Given the description of an element on the screen output the (x, y) to click on. 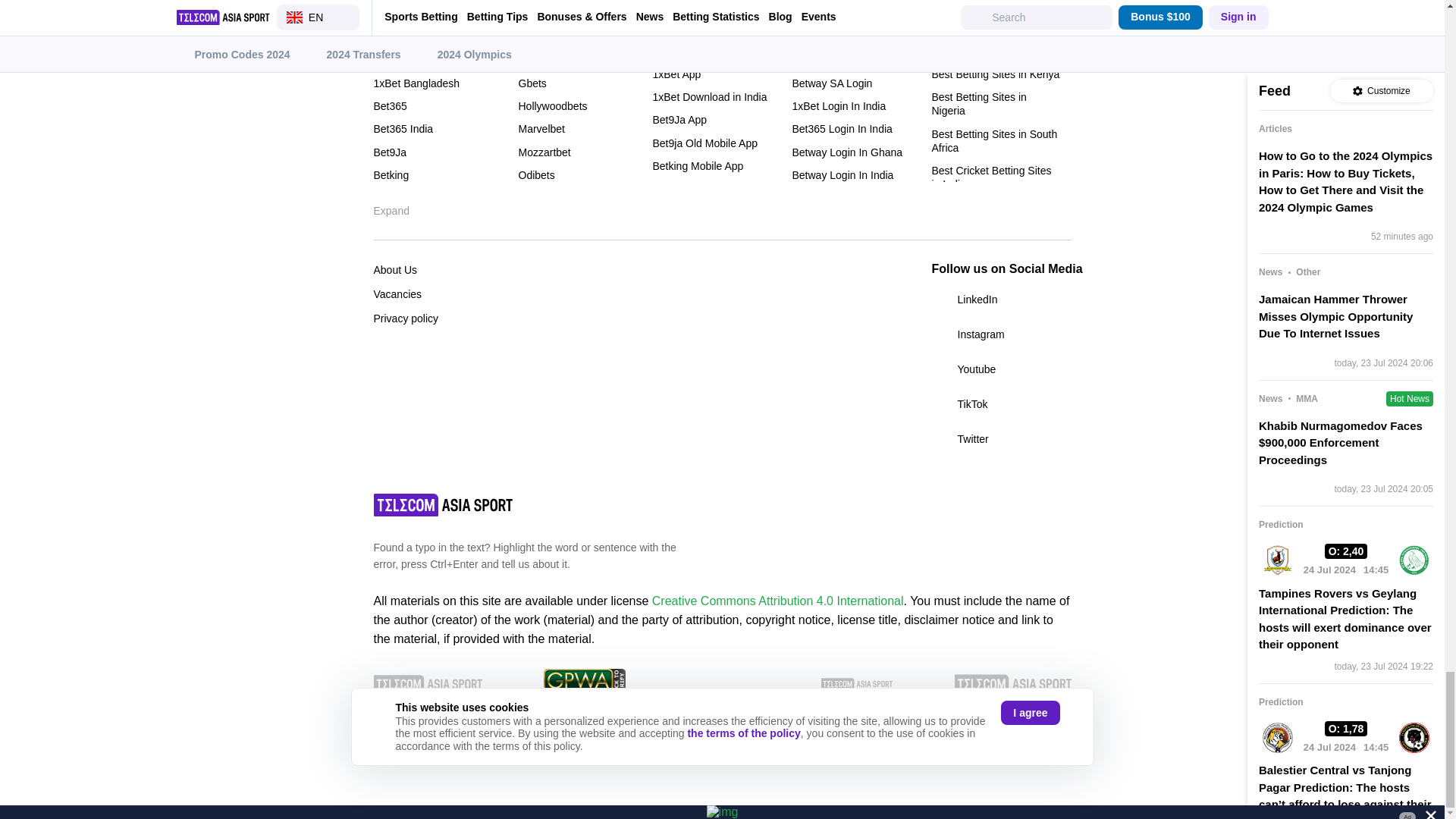
TikTok (1000, 403)
Instagram (1000, 334)
LinkedIn (1000, 299)
Youtube (1000, 369)
